Given the description of an element on the screen output the (x, y) to click on. 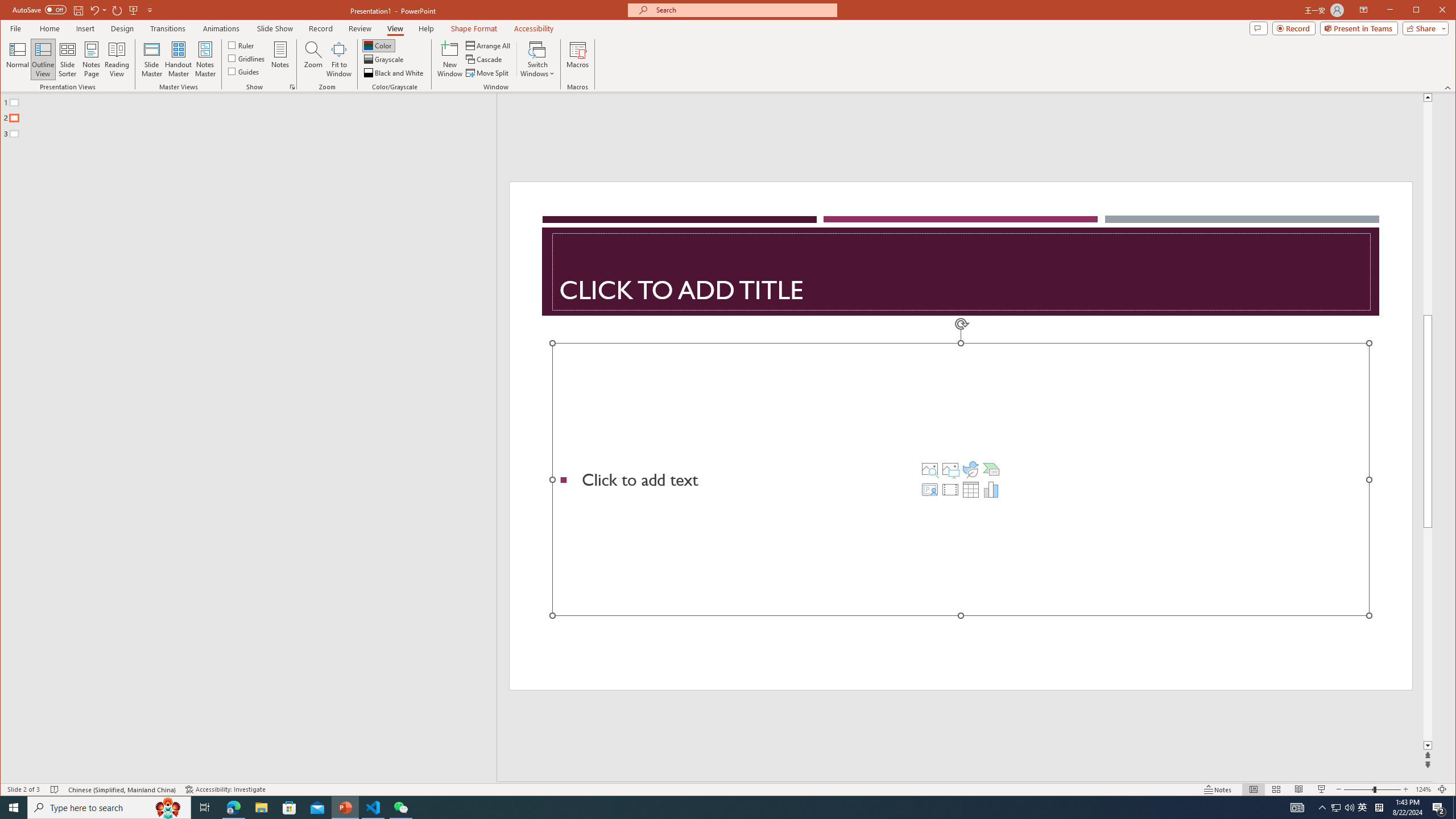
Normal (1362, 807)
Redo (1253, 789)
Transitions (117, 9)
Search highlights icon opens search home window (167, 28)
From Beginning (1335, 807)
Zoom to Fit  (167, 807)
Title TextBox (133, 9)
Class: MsoCommandBar (1441, 789)
Minimize (960, 271)
Grid Settings... (728, 789)
Type here to search (1419, 11)
Ruler (292, 86)
